Given the description of an element on the screen output the (x, y) to click on. 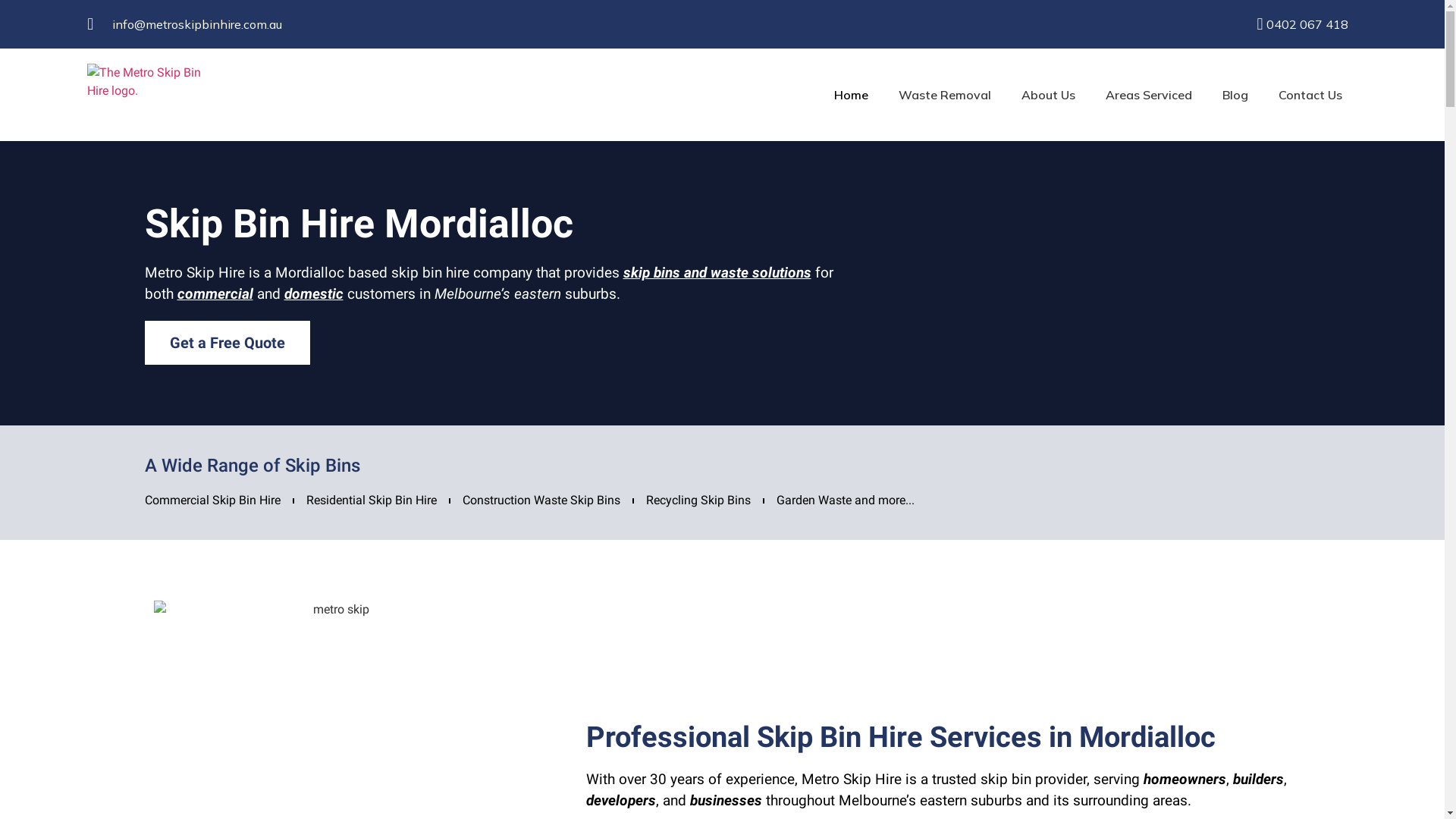
Waste Removal Element type: text (944, 94)
info@metroskipbinhire.com.au Element type: text (272, 24)
Contact Us Element type: text (1310, 94)
Areas Serviced Element type: text (1148, 94)
About Us Element type: text (1048, 94)
0402 067 418 Element type: text (1208, 24)
Blog Element type: text (1235, 94)
Get a Free Quote Element type: text (226, 342)
Home Element type: text (851, 94)
